Given the description of an element on the screen output the (x, y) to click on. 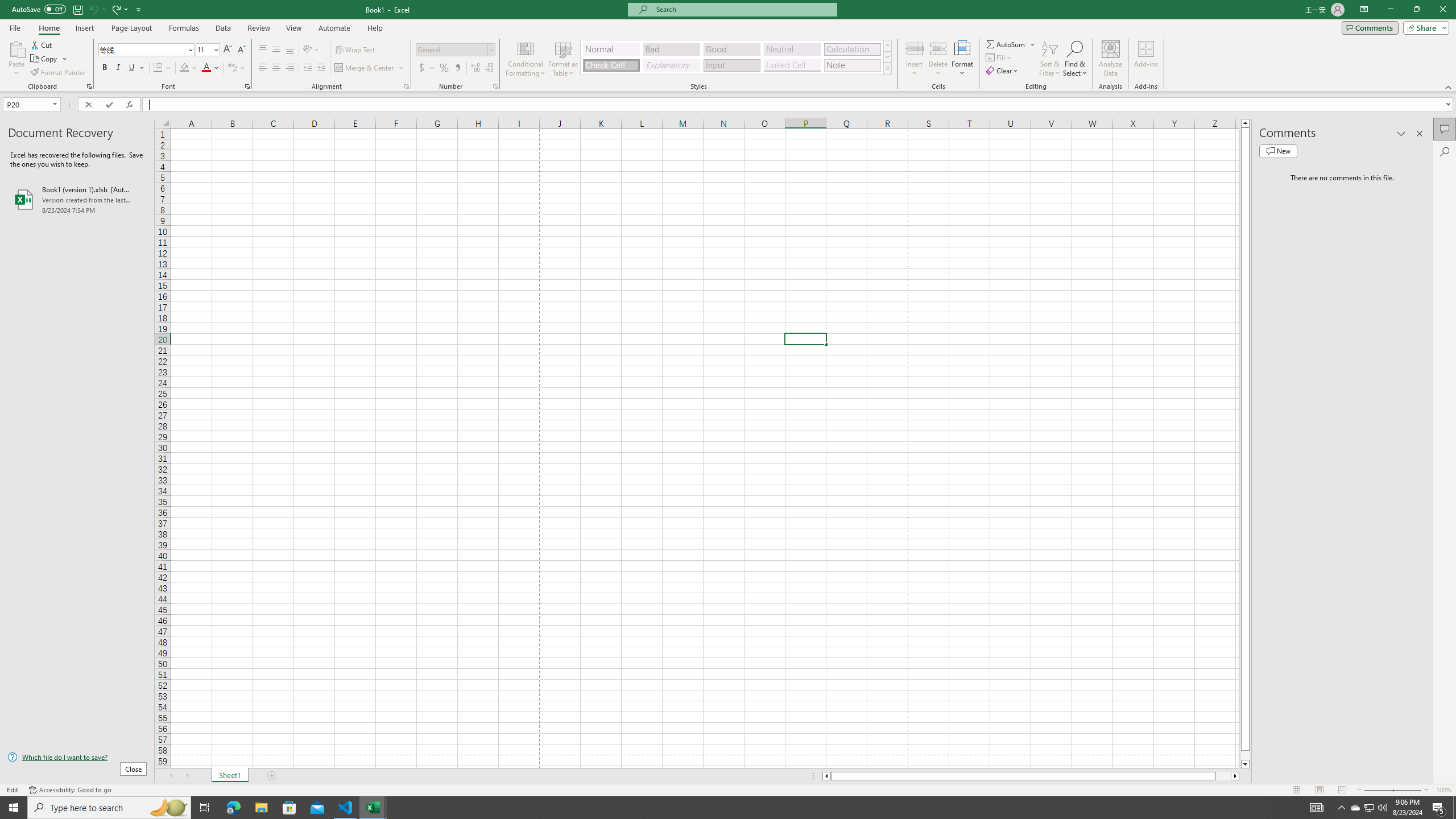
Formula Bar (799, 104)
Row up (887, 45)
Find & Select (1075, 58)
Comma Style (457, 67)
Font (147, 49)
Insert Cells (914, 48)
Center (276, 67)
Line up (1245, 122)
Help (374, 28)
View (293, 28)
Sum (1006, 44)
